Given the description of an element on the screen output the (x, y) to click on. 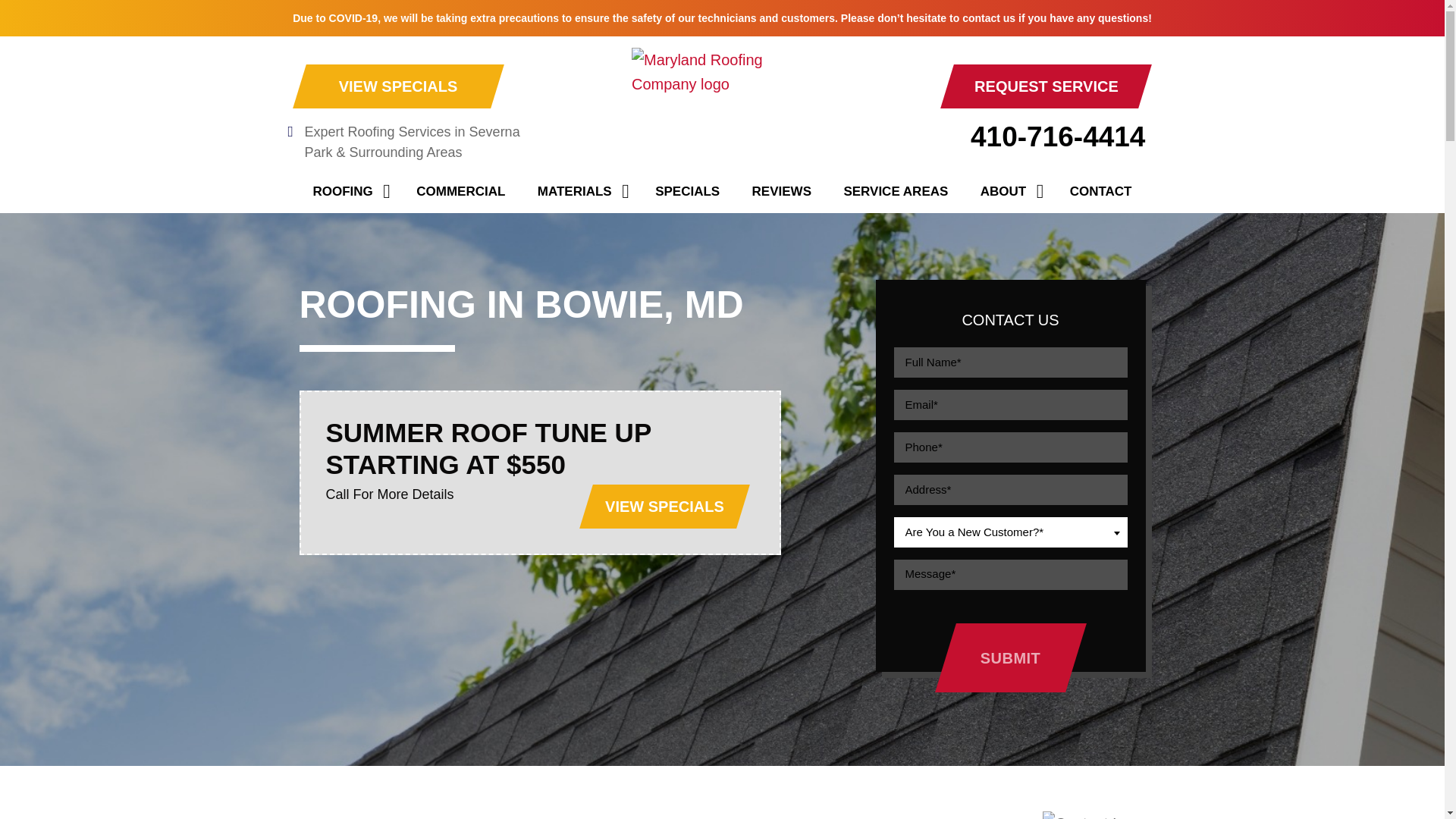
SUBMIT (1009, 657)
ABOUT (1008, 190)
COMMERCIAL (460, 190)
Maryland Roofing Company (722, 108)
SERVICE AREAS (895, 190)
ROOFING (348, 190)
REQUEST SERVICE (1045, 86)
410-716-4414 (1009, 137)
VIEW SPECIALS (397, 86)
MATERIALS (579, 190)
REVIEWS (781, 190)
CONTACT (1100, 190)
SPECIALS (686, 190)
